Given the description of an element on the screen output the (x, y) to click on. 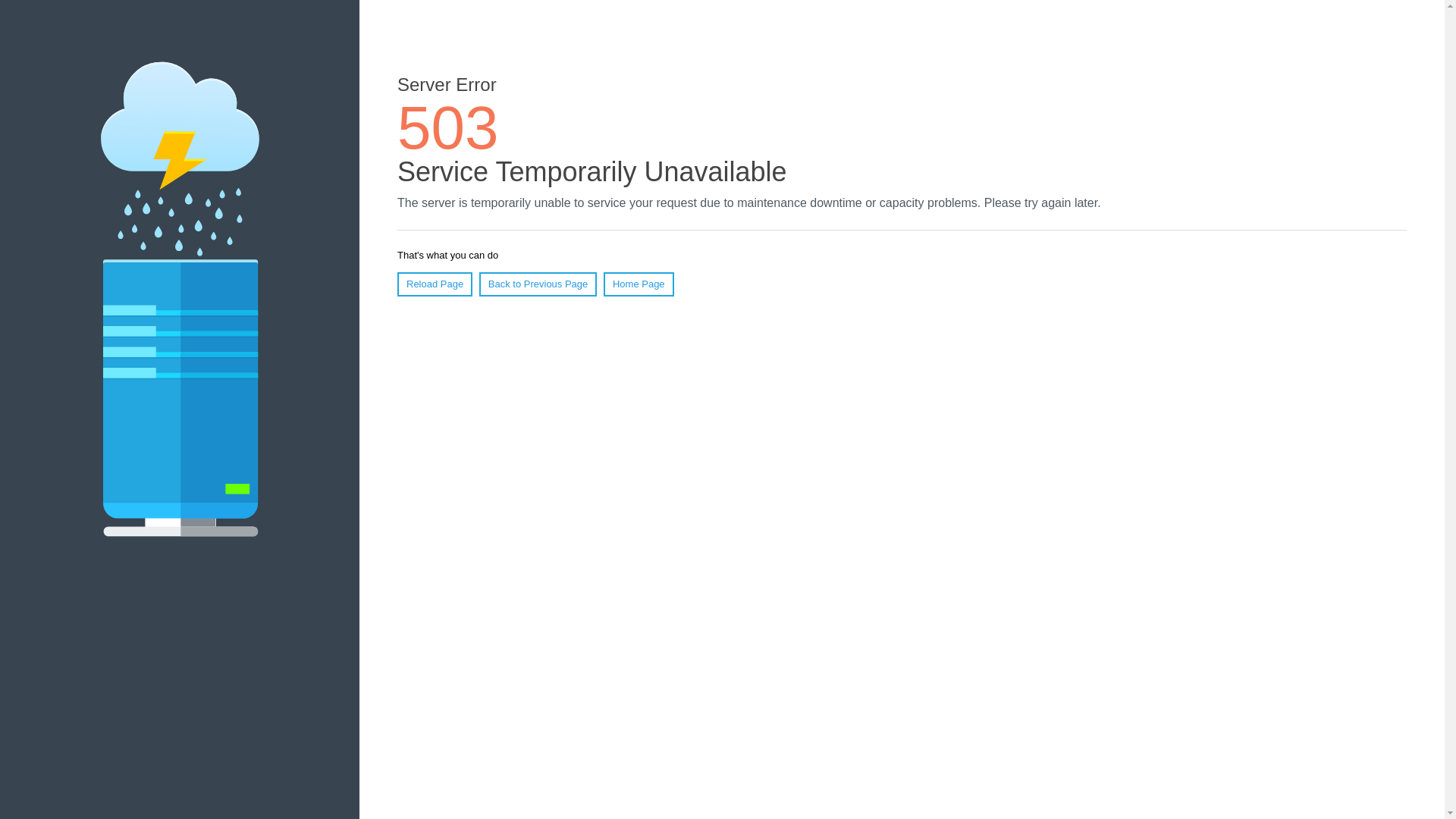
Back to Previous Page Element type: text (538, 284)
Home Page Element type: text (638, 284)
Reload Page Element type: text (434, 284)
